Given the description of an element on the screen output the (x, y) to click on. 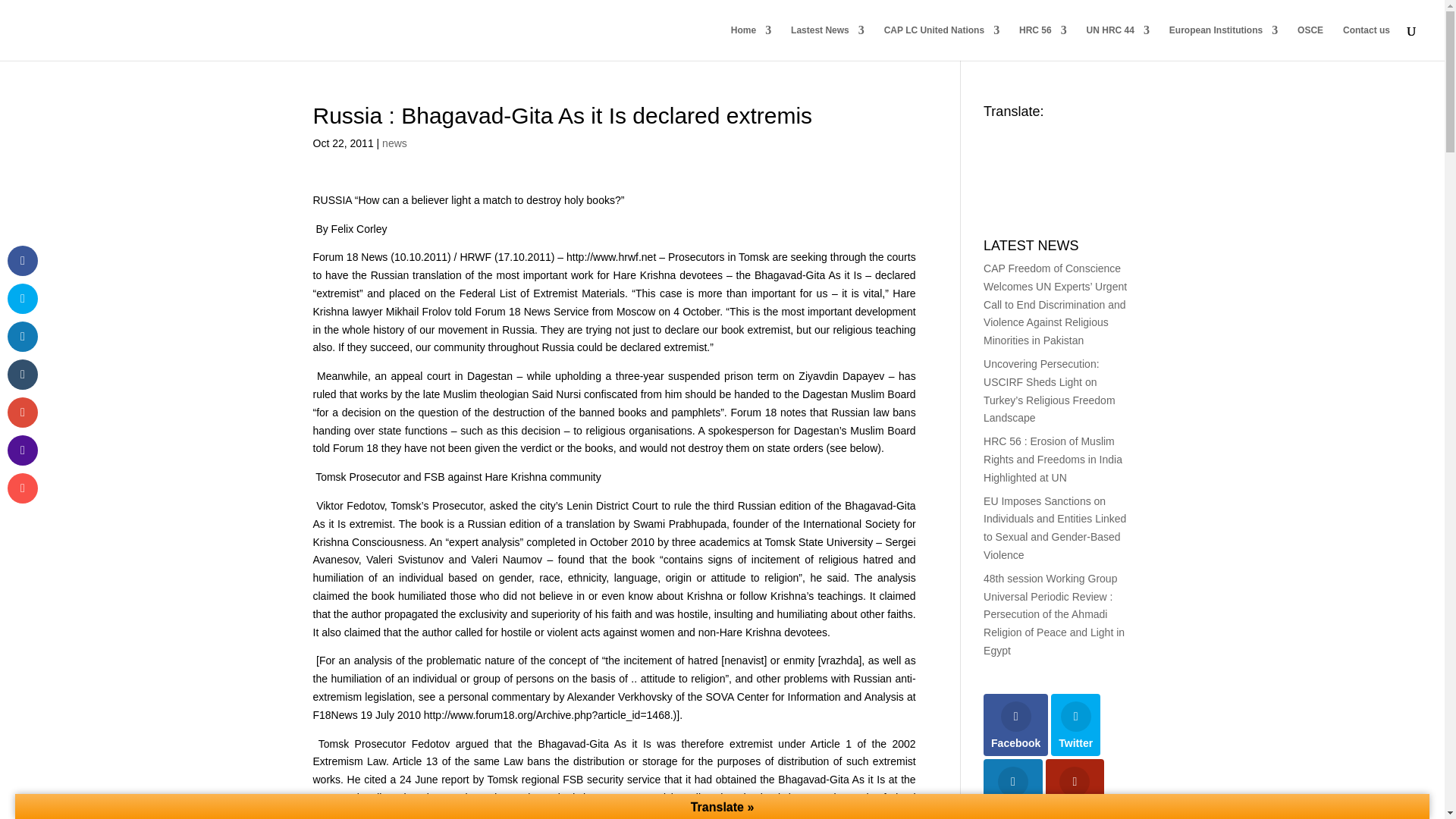
Czech (1080, 132)
English (990, 132)
HRC 56 (1043, 42)
Hebrew (1080, 150)
Home (750, 42)
Dutch (990, 150)
Albanian (1004, 132)
Lastest News (827, 42)
Croatian (1066, 132)
UN HRC 44 (1118, 42)
German (1050, 150)
CAP LC United Nations (940, 42)
Bosnian (1035, 132)
French (1035, 150)
Greek (1066, 150)
